Given the description of an element on the screen output the (x, y) to click on. 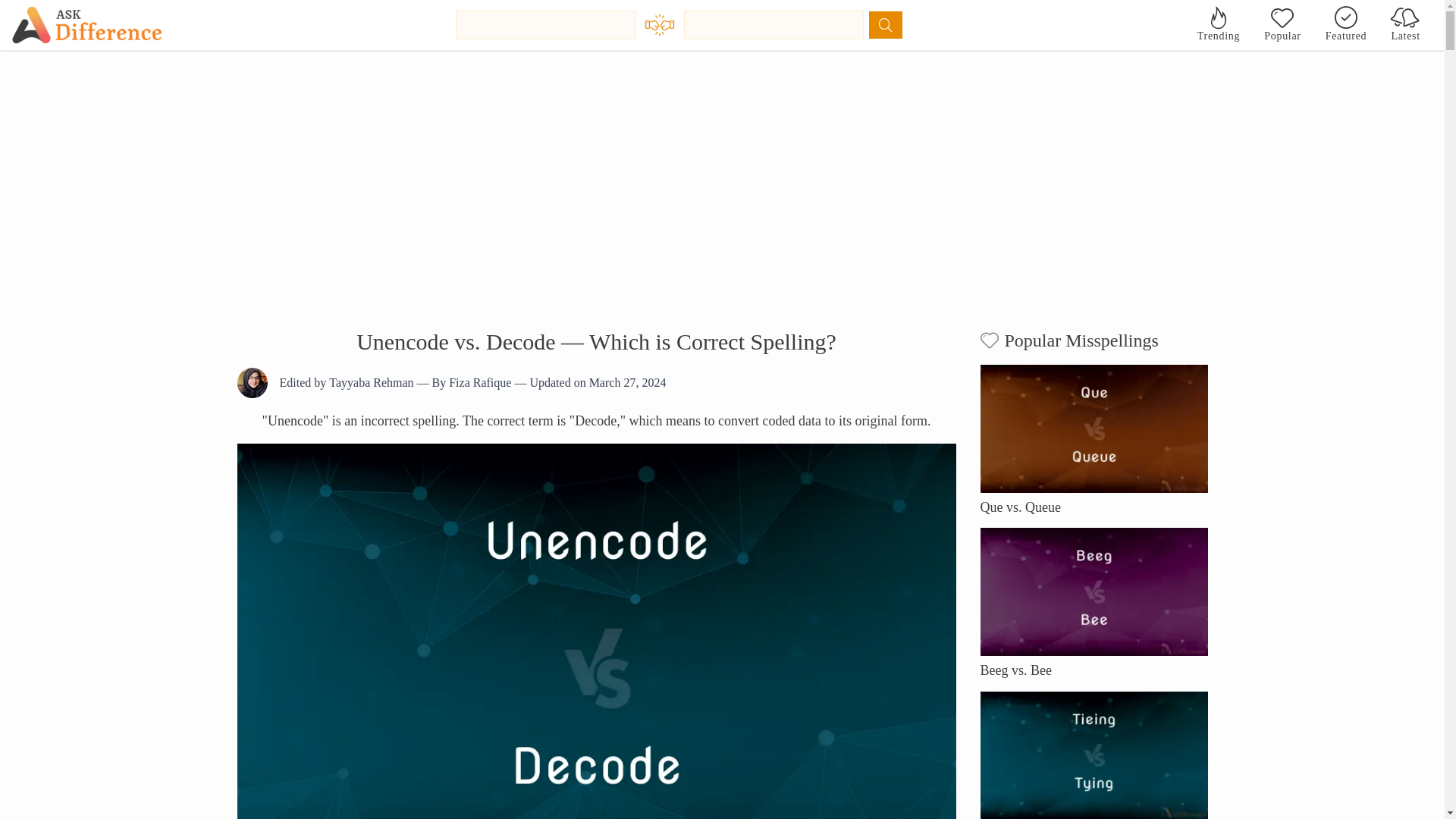
Popular (1282, 24)
Fiza Rafique (479, 382)
Featured (1345, 24)
Latest (1405, 24)
Tayyaba Rehman (371, 382)
Trending (1218, 24)
